Given the description of an element on the screen output the (x, y) to click on. 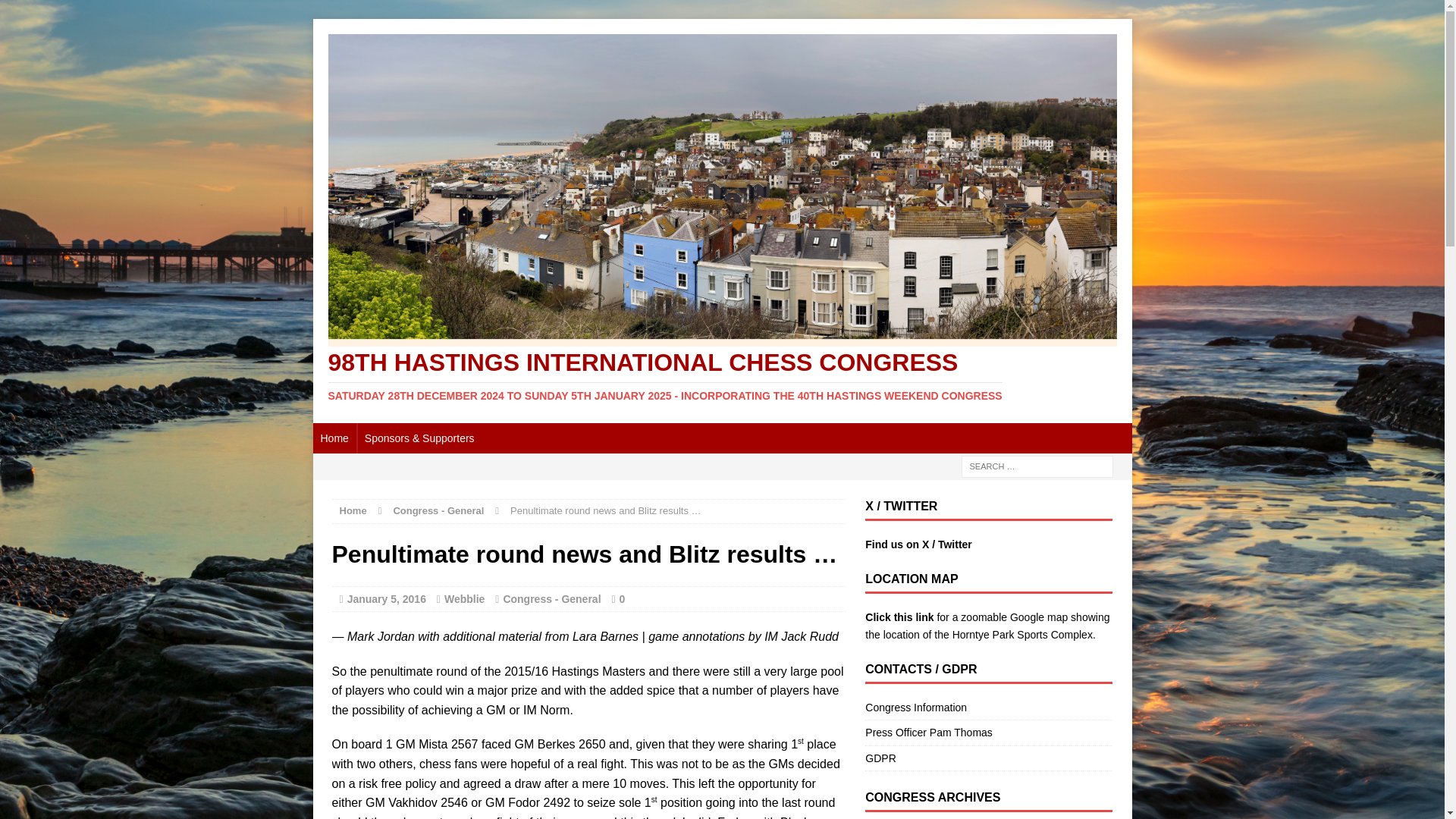
GDPR (988, 758)
January 5, 2016 (386, 598)
Home (334, 438)
Search (37, 11)
Congress Information (988, 709)
Congress - General (438, 510)
Click this link (898, 616)
Home (352, 510)
